Given the description of an element on the screen output the (x, y) to click on. 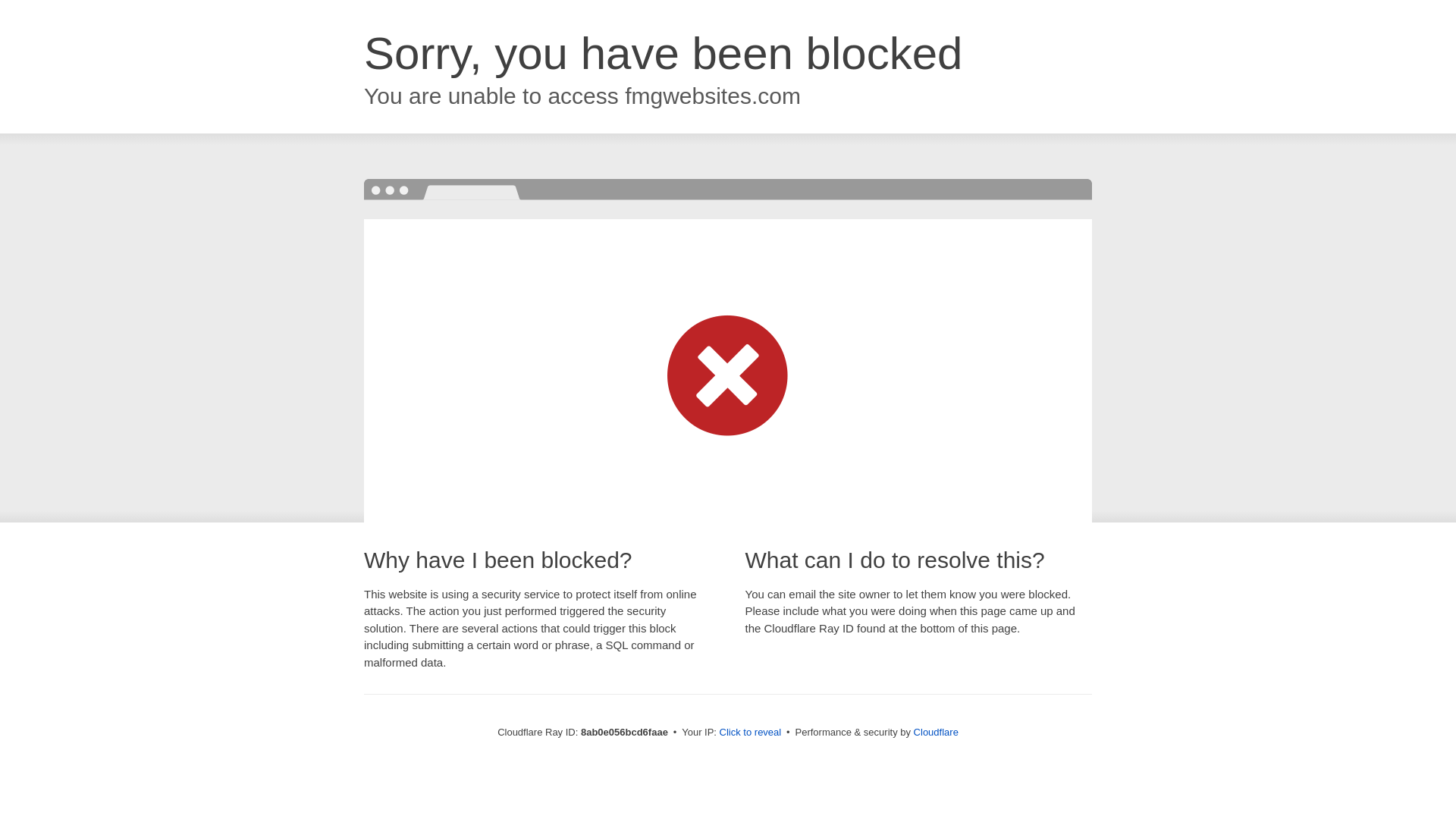
Click to reveal (750, 732)
Cloudflare (936, 731)
